Given the description of an element on the screen output the (x, y) to click on. 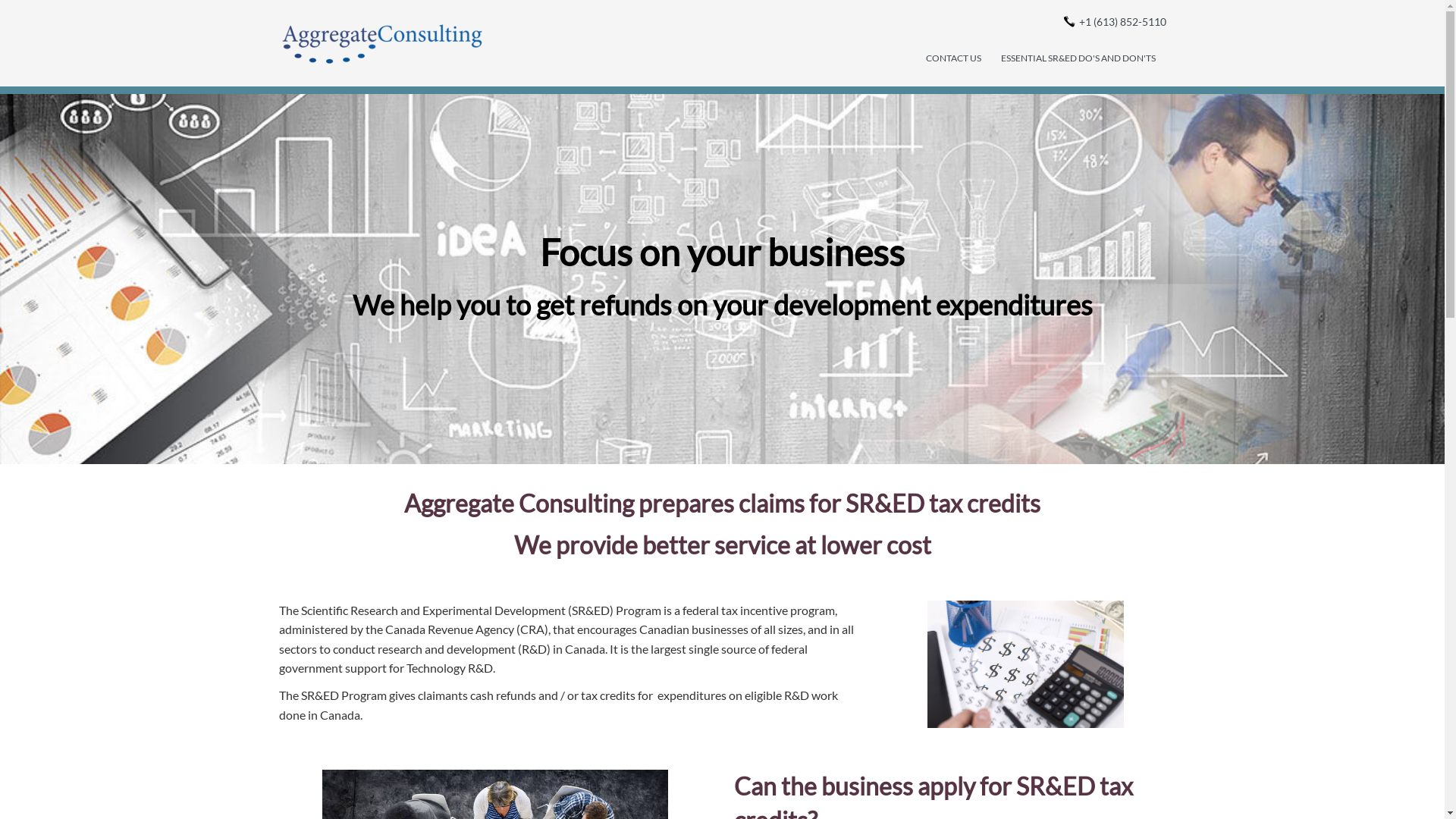
ESSENTIAL SR&ED DO'S AND DON'TS Element type: text (1077, 58)
CONTACT US Element type: text (952, 58)
